Given the description of an element on the screen output the (x, y) to click on. 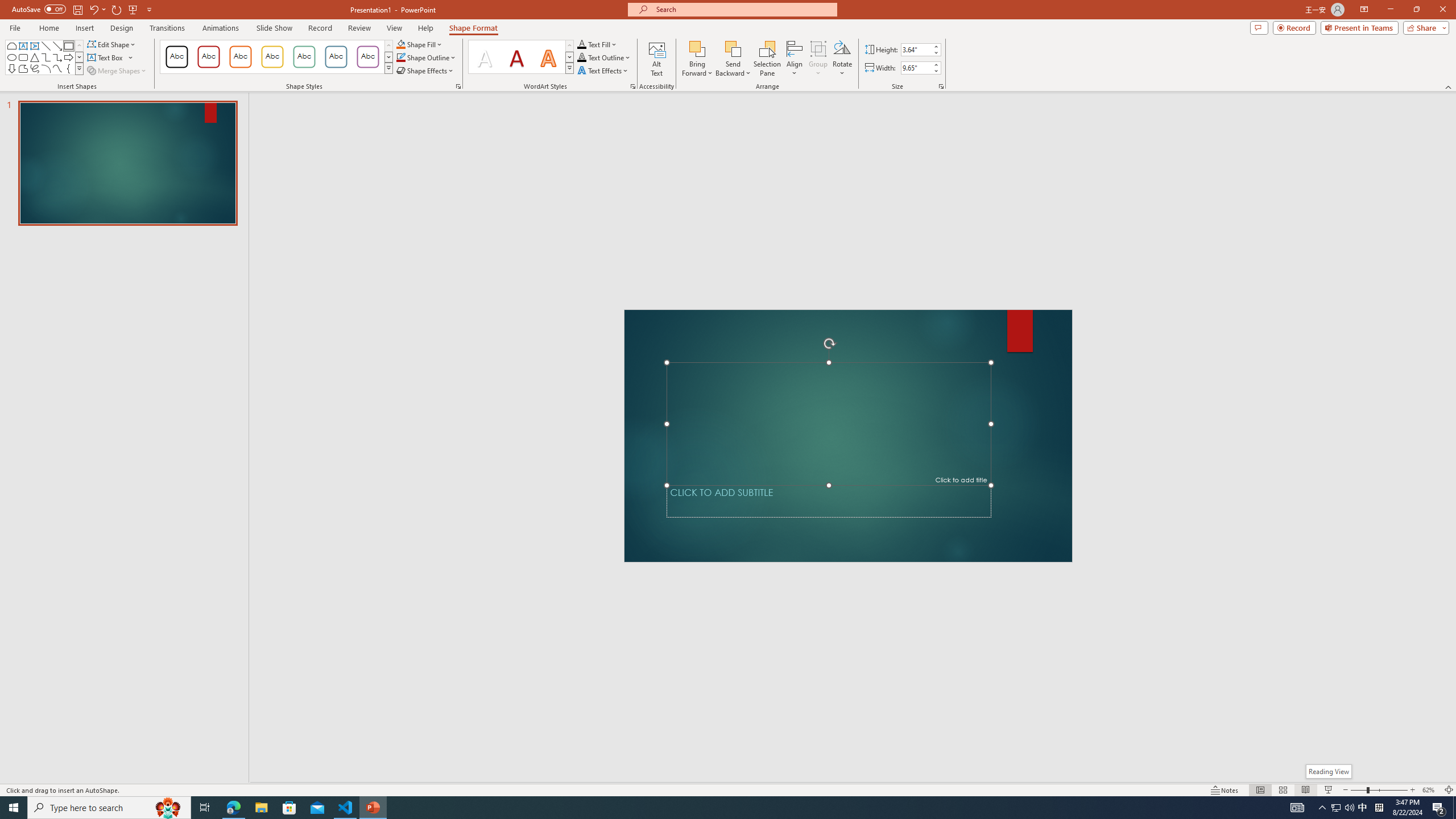
Shapes (78, 68)
Freeform: Scribble (34, 68)
Format Text Effects... (632, 85)
Row up (568, 45)
Shape Outline Blue, Accent 1 (400, 56)
Arc (46, 68)
Text Box (23, 45)
Shape Effects (425, 69)
AutoSave (38, 9)
Notes  (1225, 790)
Shape Fill (419, 44)
Edit Shape (112, 44)
View (395, 28)
